Given the description of an element on the screen output the (x, y) to click on. 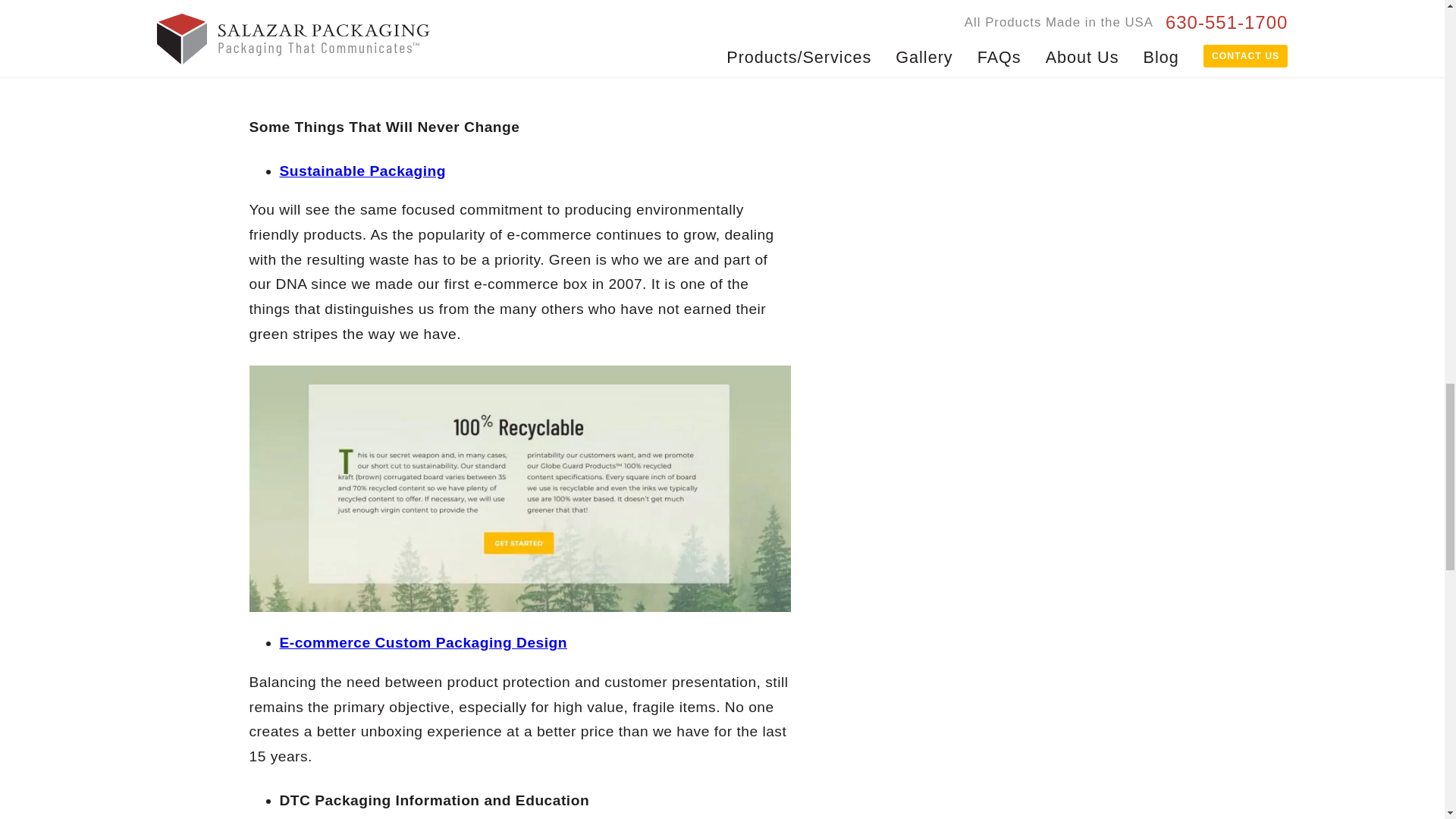
Sustainable Packaging (362, 170)
E-commerce Custom Packaging Design (423, 642)
